Given the description of an element on the screen output the (x, y) to click on. 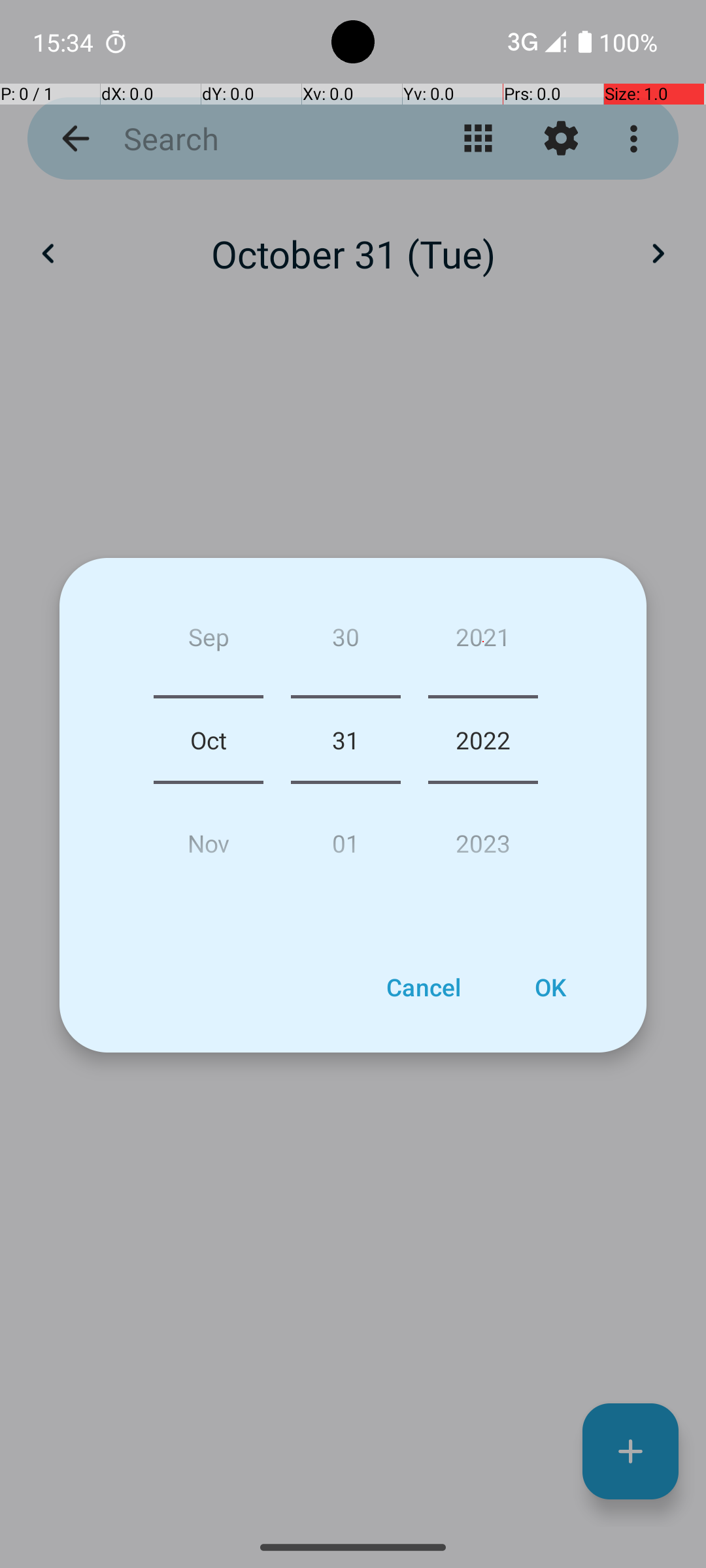
01 Element type: android.widget.Button (345, 837)
2021 Element type: android.widget.Button (482, 641)
